Given the description of an element on the screen output the (x, y) to click on. 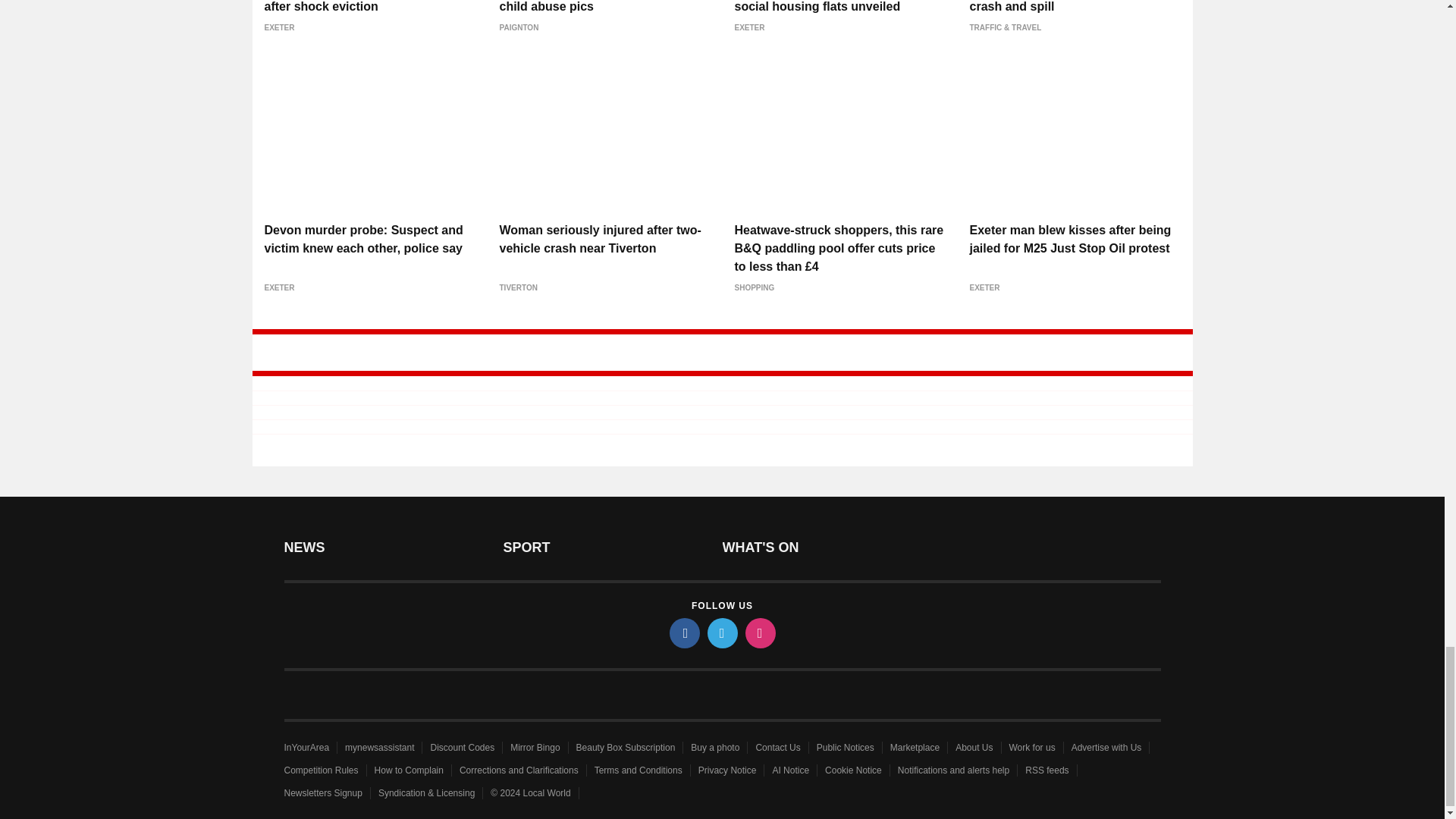
facebook (683, 633)
instagram (759, 633)
twitter (721, 633)
